Given the description of an element on the screen output the (x, y) to click on. 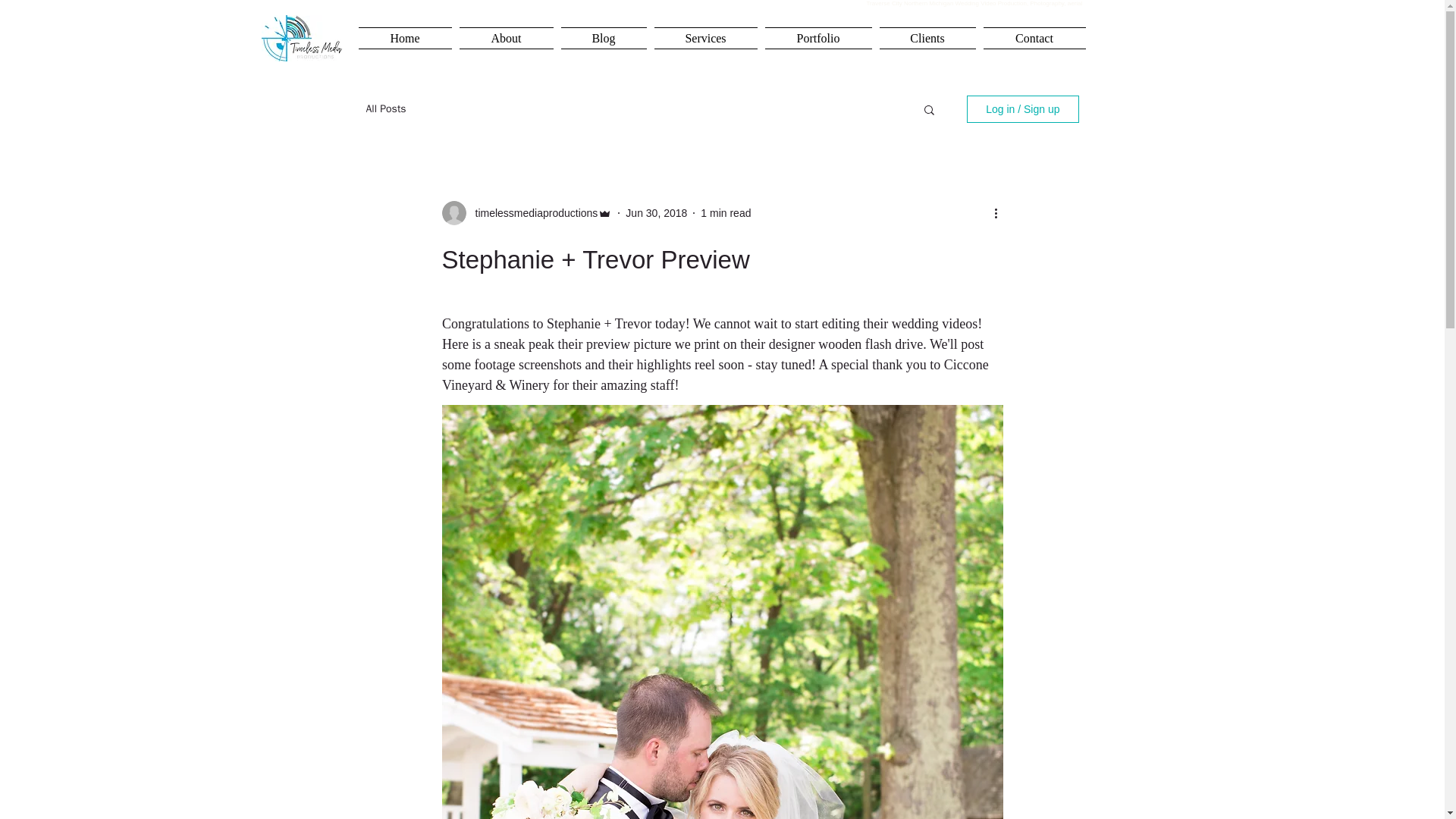
timelessmediaproductions (530, 212)
Blog (602, 38)
About (505, 38)
Clients (926, 38)
Jun 30, 2018 (656, 212)
Contact (1032, 38)
Services (705, 38)
1 min read (725, 212)
All Posts (385, 109)
Home (406, 38)
